Given the description of an element on the screen output the (x, y) to click on. 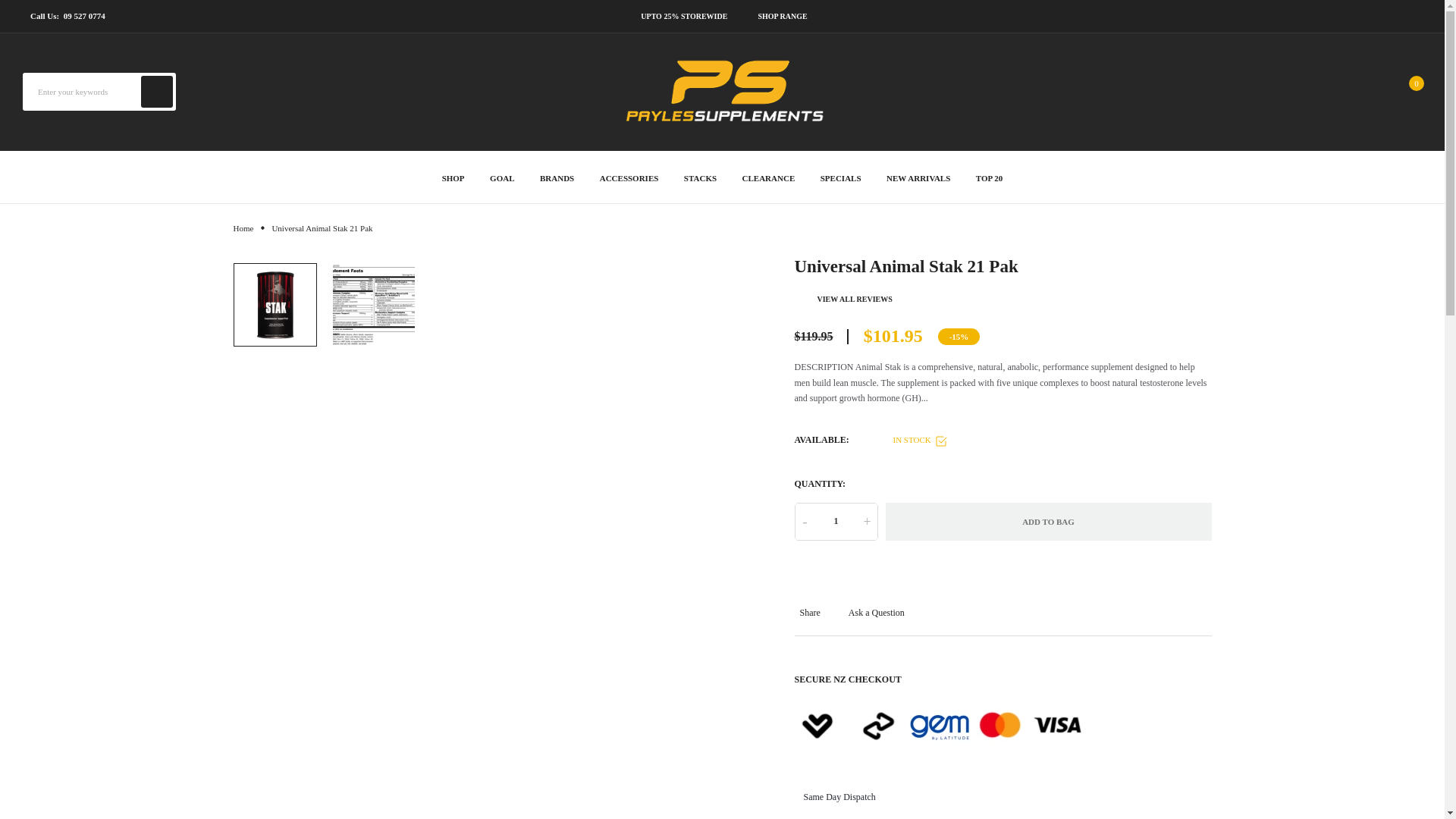
Clearance (768, 176)
SHOP RANGE (781, 15)
Search (157, 91)
New Arrivals (918, 176)
Account (1354, 91)
Cart (1416, 83)
1 (835, 521)
Accessories (629, 176)
